Given the description of an element on the screen output the (x, y) to click on. 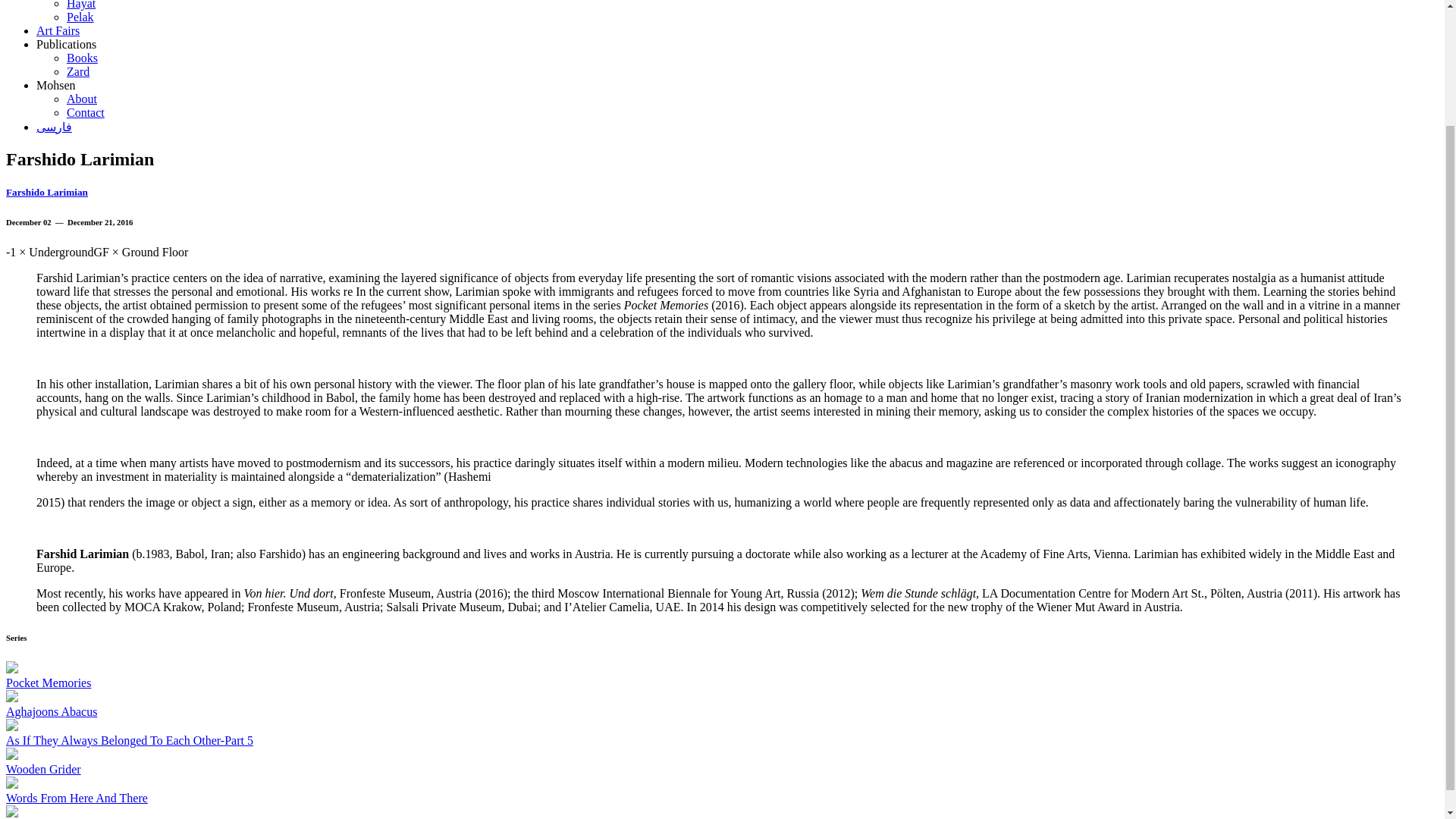
Books (81, 57)
Publications (66, 43)
Contact (85, 112)
Hayat (81, 4)
Zard (77, 71)
Mohsen (55, 84)
Pelak (80, 16)
Farshido Larimian (46, 192)
About (81, 98)
Art Fairs (58, 30)
